Given the description of an element on the screen output the (x, y) to click on. 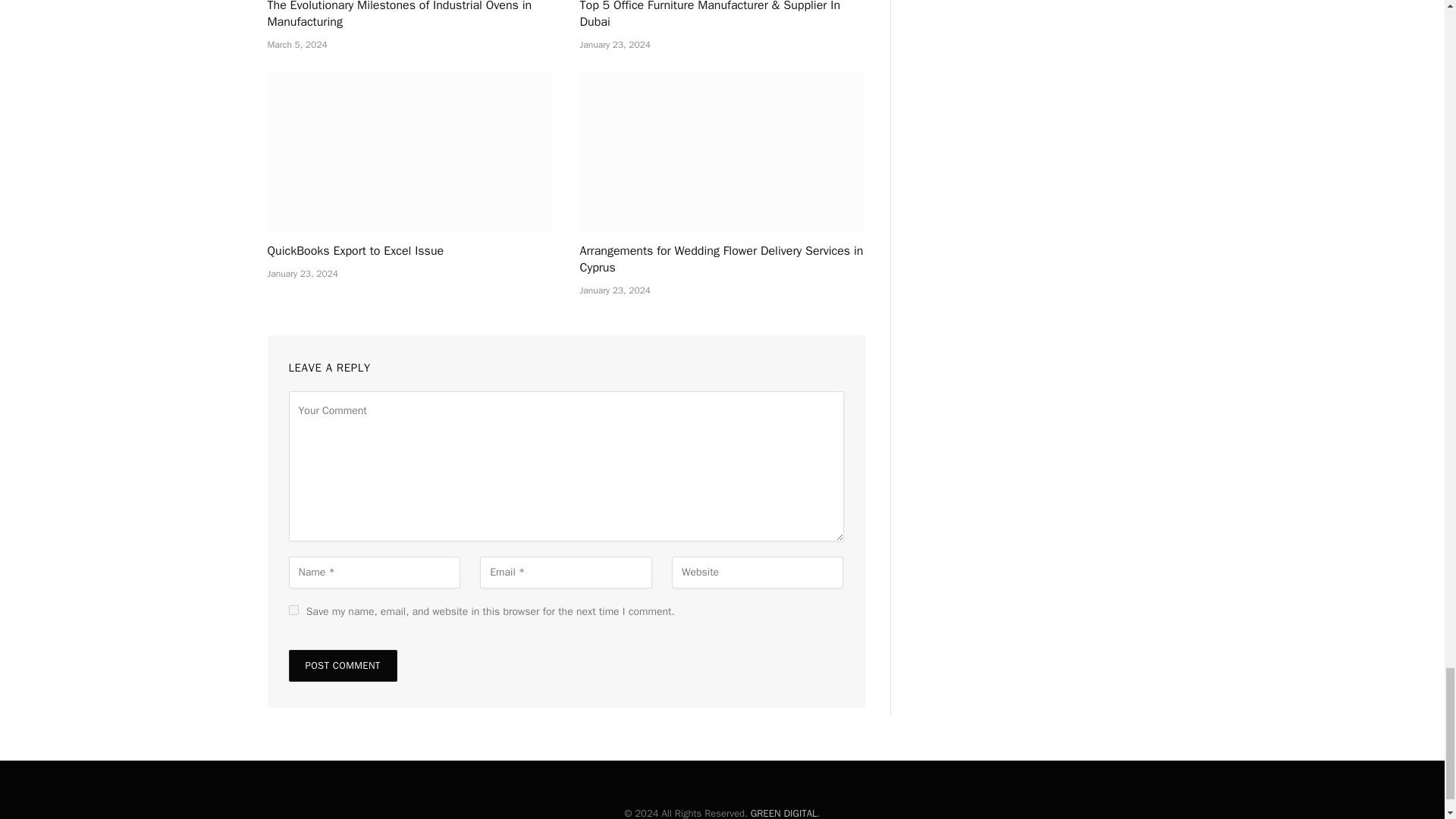
yes (293, 610)
Post Comment (342, 665)
